Given the description of an element on the screen output the (x, y) to click on. 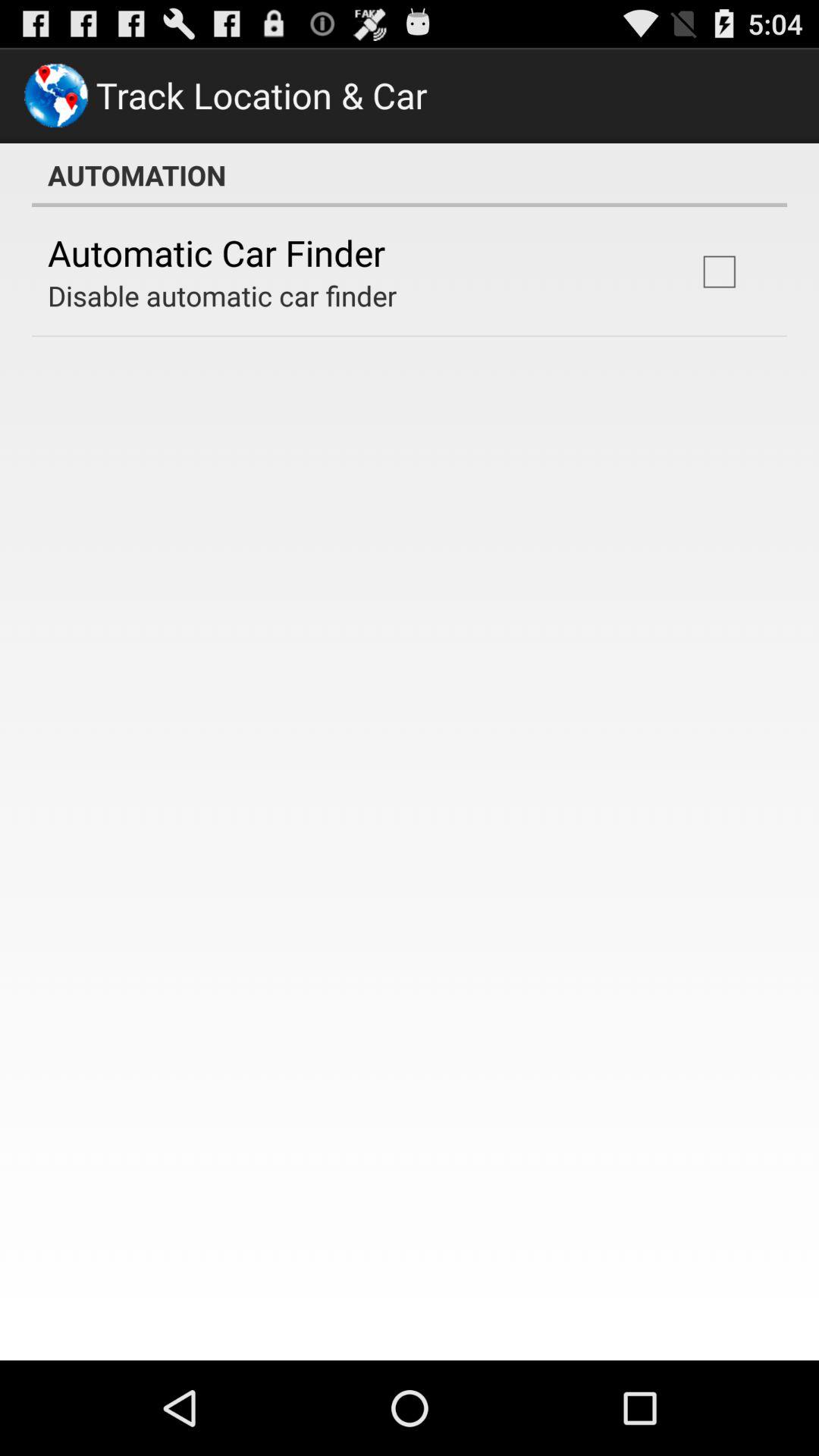
select item at the top right corner (719, 271)
